Given the description of an element on the screen output the (x, y) to click on. 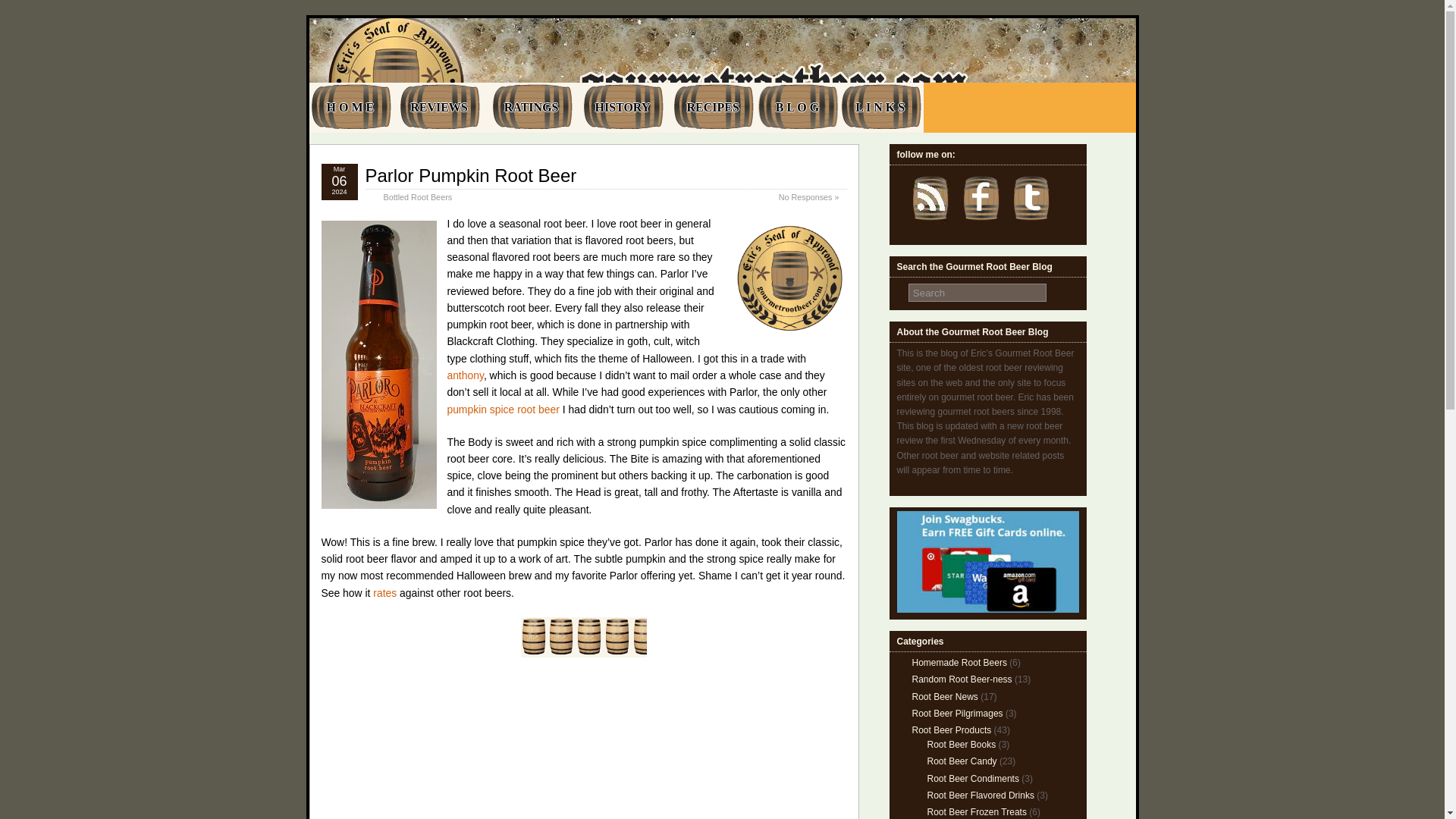
Random Root Beer-ness (961, 679)
Root Beer News (943, 696)
RATINGS (532, 107)
Bottled Root Beers (418, 196)
HISTORY (622, 107)
L I N K S (880, 107)
Root Beer Candy (960, 760)
REVIEWS (439, 107)
Search (977, 292)
Parlor Pumpkin Root Beer (470, 175)
Homemade Root Beers (958, 662)
Root Beer Pilgrimages (957, 713)
pumpkin spice root beer (502, 409)
rates (384, 592)
B L O G (798, 107)
